Given the description of an element on the screen output the (x, y) to click on. 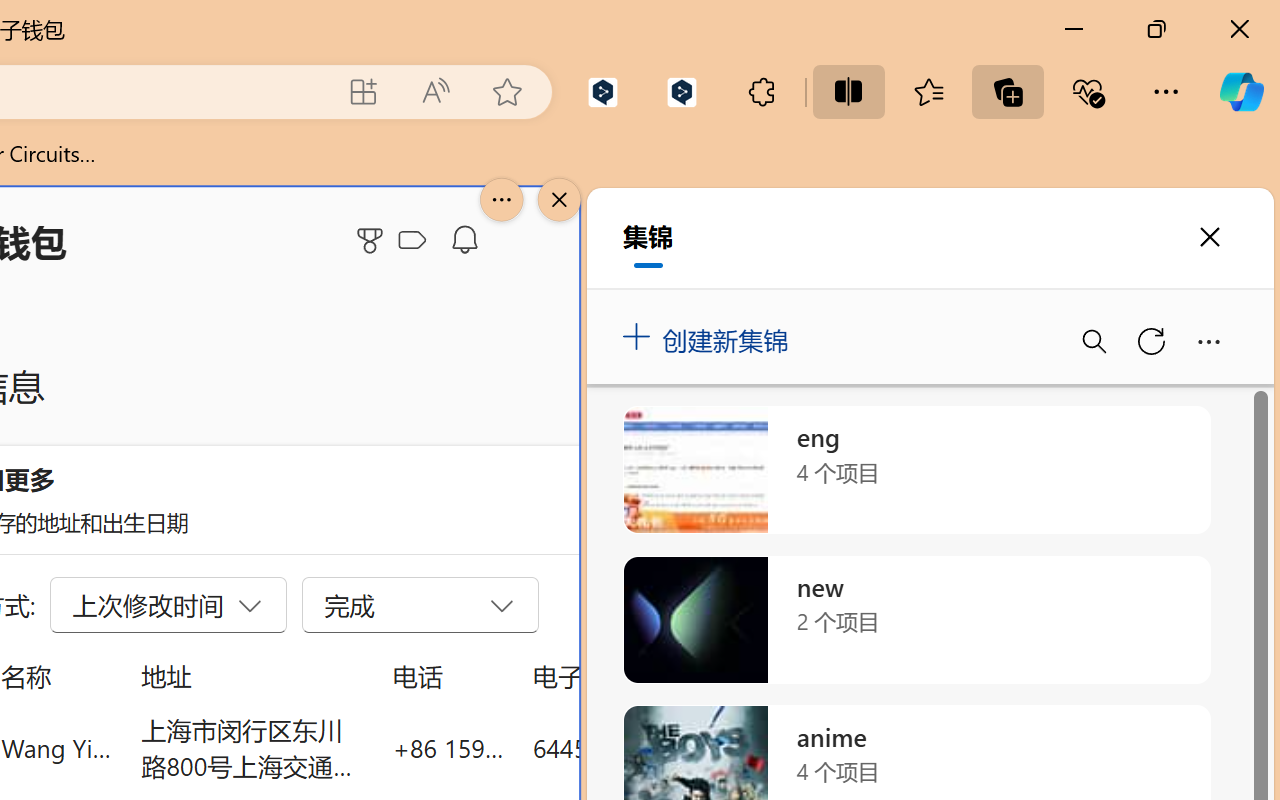
644553698@qq.com (644, 747)
Class: ___1lmltc5 f1agt3bx f12qytpq (411, 241)
Microsoft Cashback (415, 241)
+86 159 0032 4640 (447, 747)
